Given the description of an element on the screen output the (x, y) to click on. 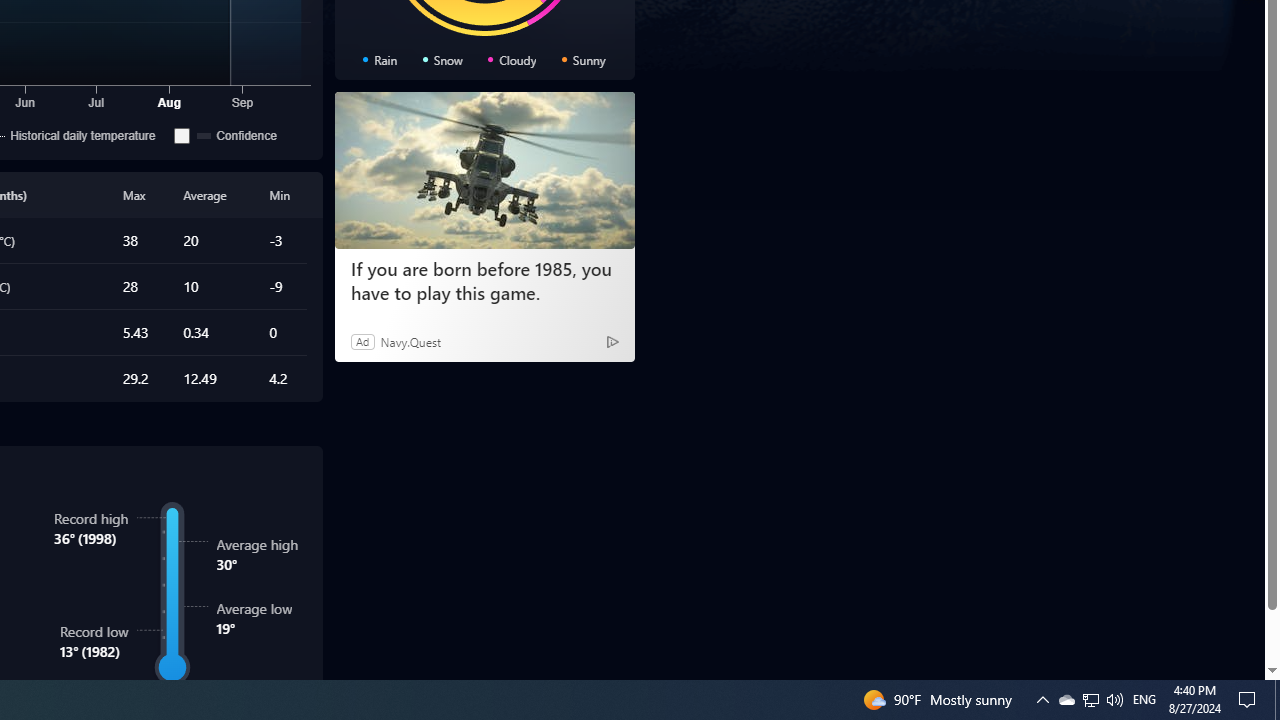
Q2790: 100% (1114, 699)
Action Center, No new notifications (1066, 699)
Show desktop (1250, 699)
User Promoted Notification Area (1277, 699)
Notification Chevron (1090, 699)
Tray Input Indicator - English (United States) (1042, 699)
